Given the description of an element on the screen output the (x, y) to click on. 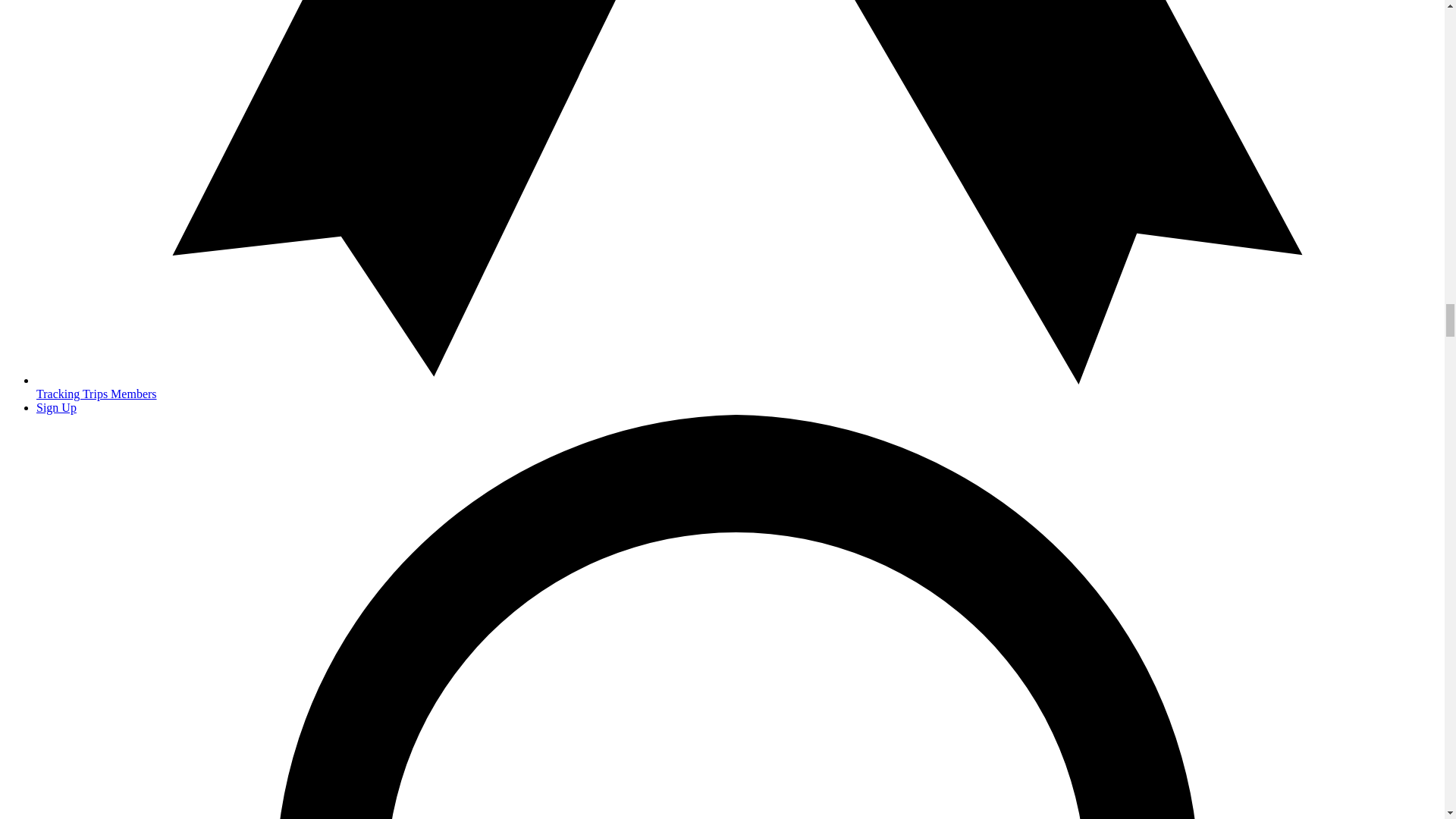
Sign Up (56, 407)
